Given the description of an element on the screen output the (x, y) to click on. 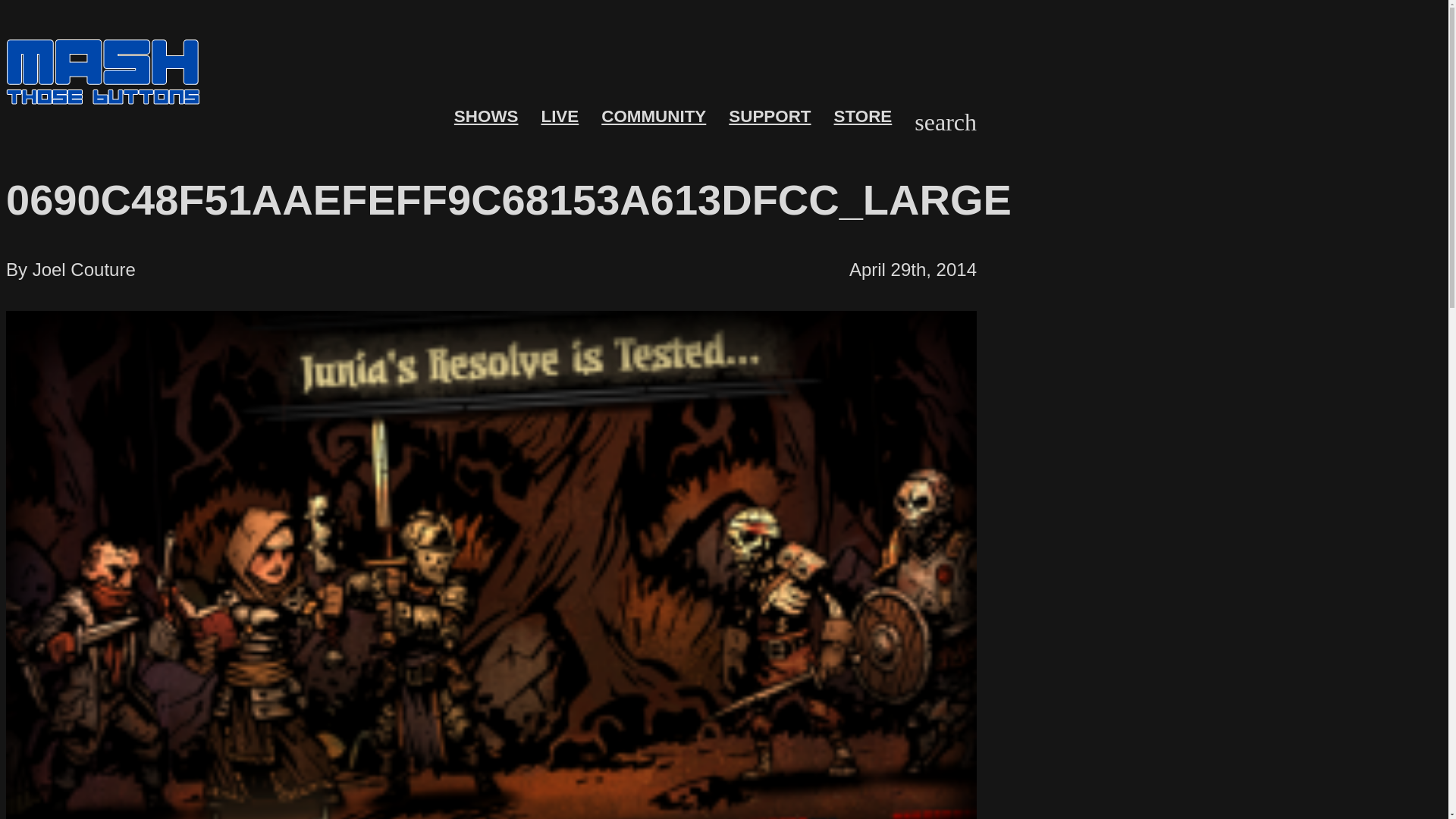
COMMUNITY (653, 116)
SUPPORT (769, 116)
SHOWS (486, 116)
STORE (863, 116)
LIVE (559, 116)
